Given the description of an element on the screen output the (x, y) to click on. 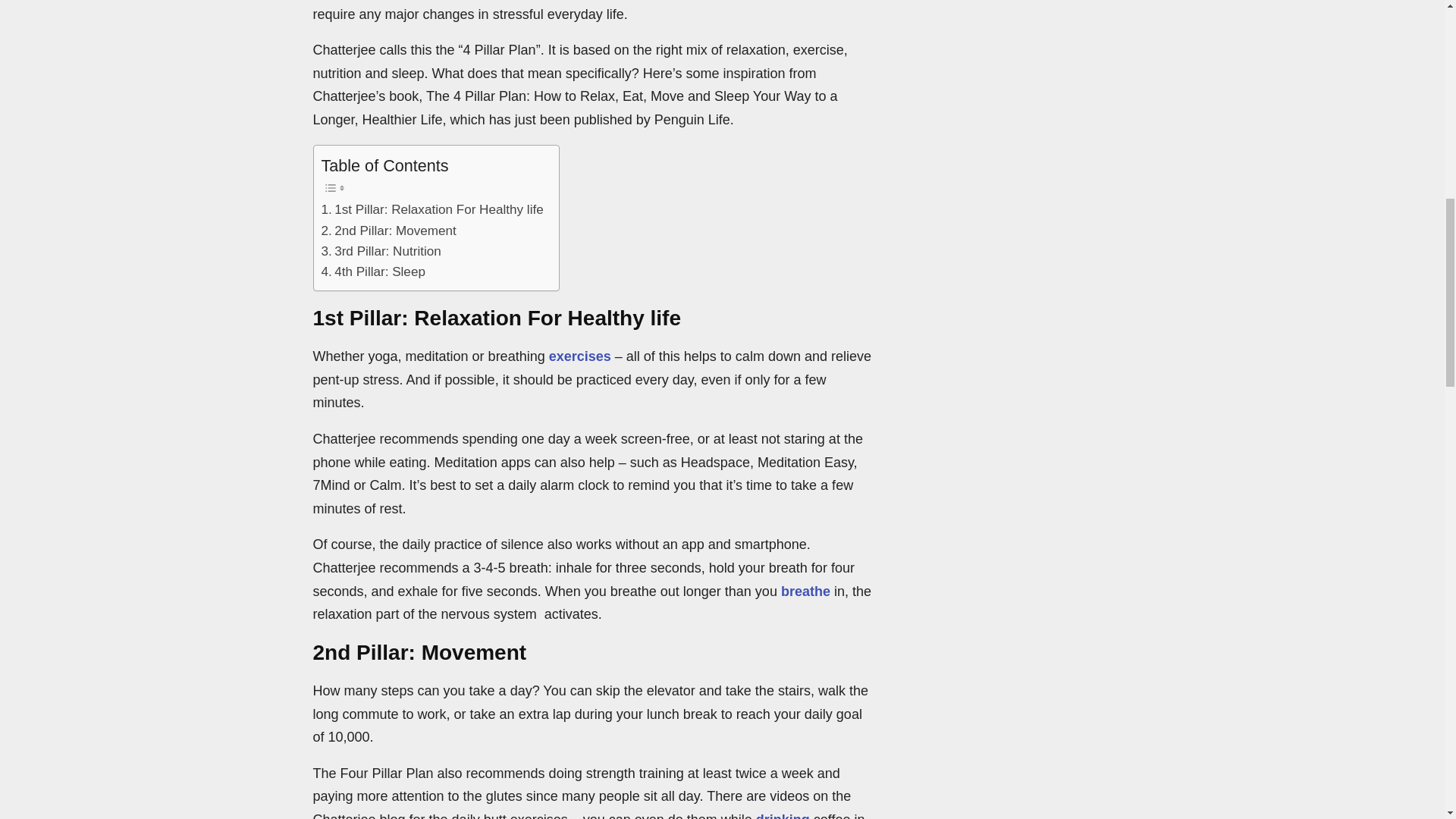
3rd Pillar: Nutrition (381, 250)
1st Pillar: Relaxation For Healthy life (432, 209)
exercises (579, 355)
4th Pillar: Sleep (373, 271)
drinking (782, 815)
2nd Pillar: Movement (389, 230)
3rd Pillar: Nutrition (381, 250)
breathe (804, 590)
4th Pillar: Sleep (373, 271)
2nd Pillar: Movement (389, 230)
